Given the description of an element on the screen output the (x, y) to click on. 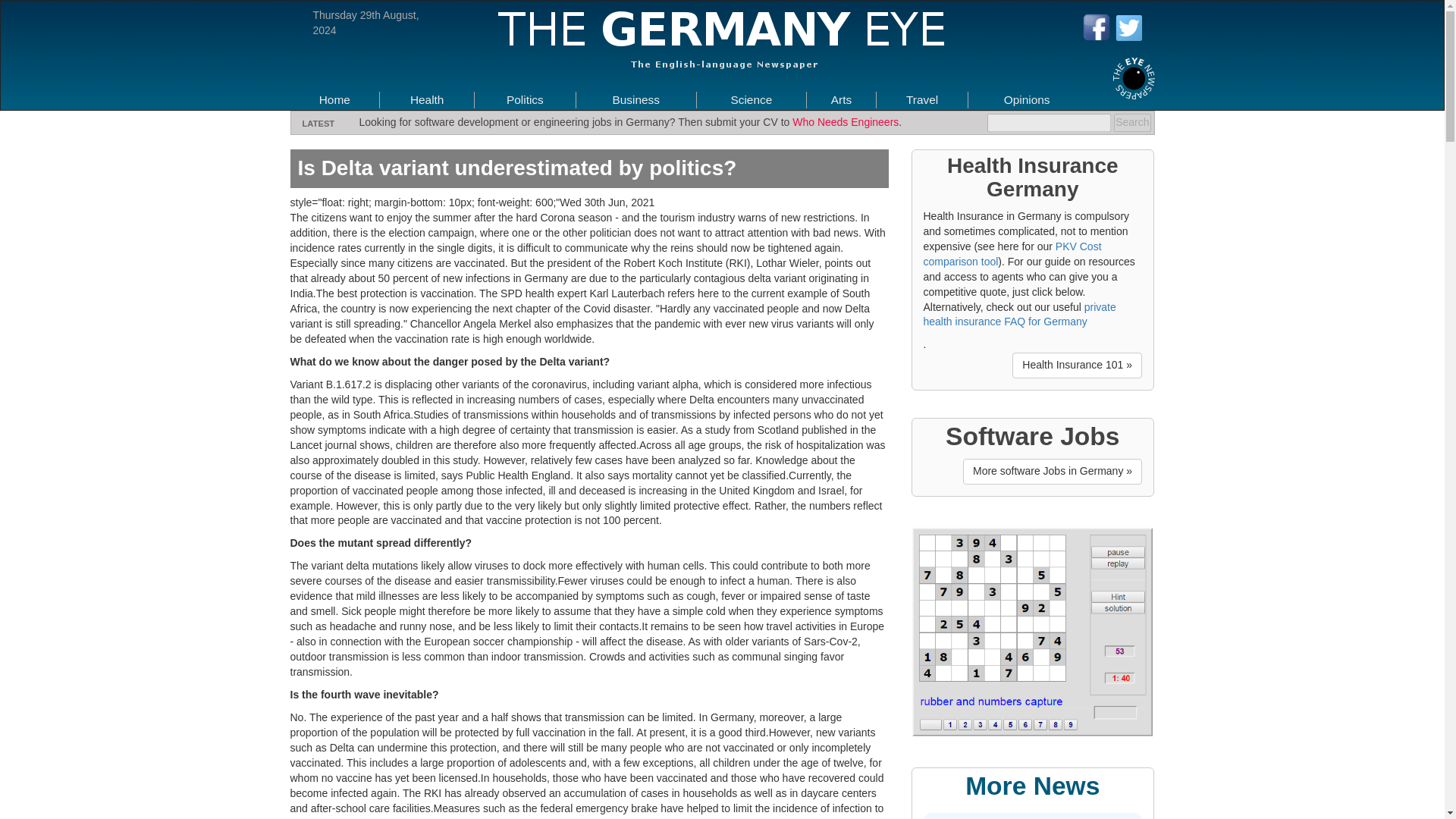
The Germany Eye (722, 38)
Germany Travel News (921, 99)
Arts (841, 99)
Germany Business News (635, 99)
Germany Health News (427, 99)
Travel (921, 99)
Germany News, Health Insurance, Engineering Jobs (334, 99)
Search (1131, 122)
Science (750, 99)
Health (427, 99)
